Given the description of an element on the screen output the (x, y) to click on. 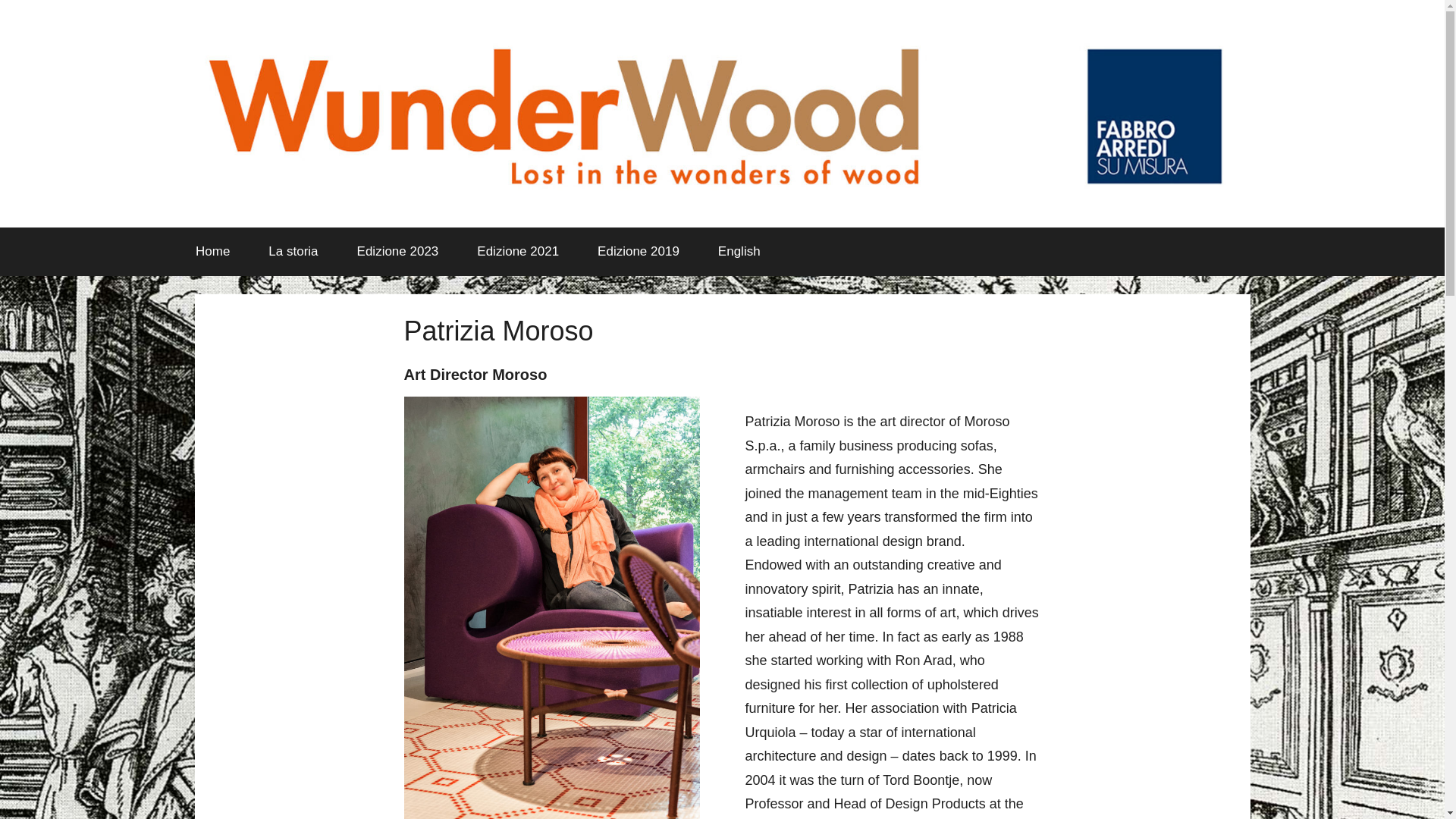
Edizione 2023 (397, 251)
Posts selected in English (738, 251)
Edizione 2019 (638, 251)
Home (212, 251)
English (738, 251)
La storia (292, 251)
Edizione 2021 (518, 251)
